Given the description of an element on the screen output the (x, y) to click on. 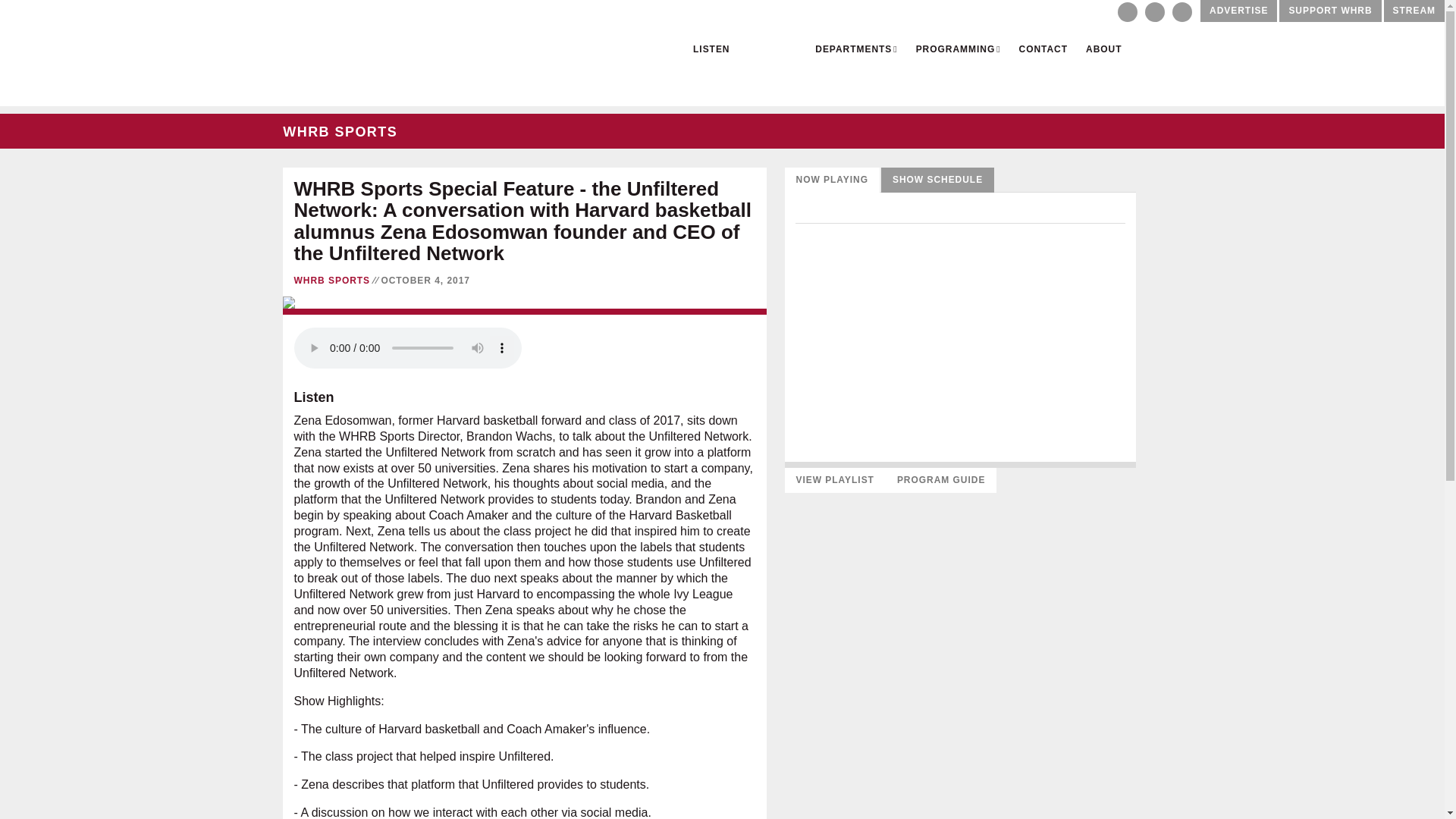
NOW PLAYING (831, 179)
PROGRAMMING (958, 46)
CONTACT (1043, 46)
DEPARTMENTS (855, 46)
WHRB SPORTS (332, 280)
ABOUT (1103, 46)
SHOW SCHEDULE (937, 179)
VIEW PLAYLIST (834, 480)
ADVERTISE (1237, 11)
SUPPORT WHRB (1329, 11)
